Given the description of an element on the screen output the (x, y) to click on. 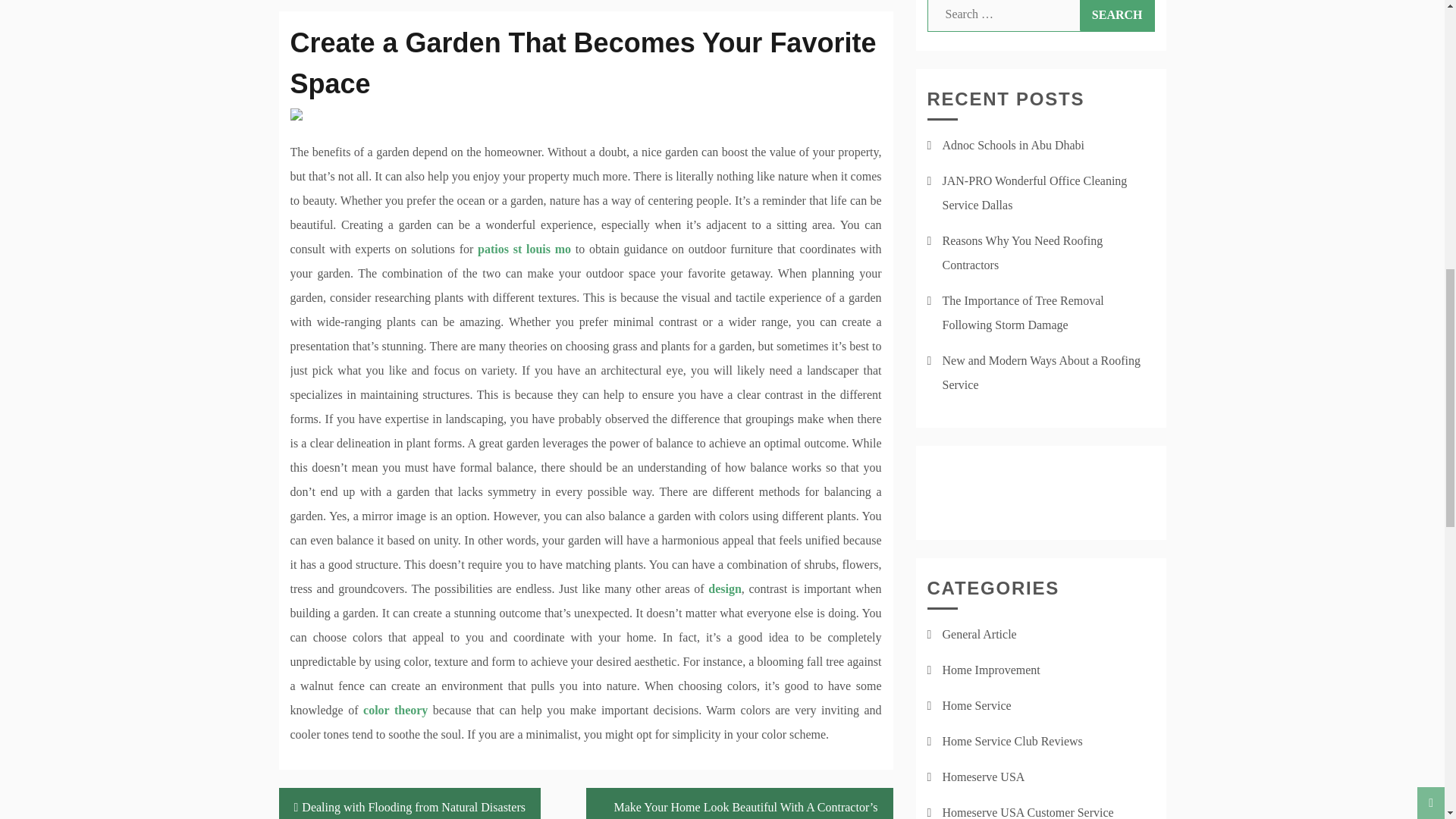
color theory (395, 709)
Dealing with Flooding from Natural Disasters (409, 803)
design (724, 588)
Search (1117, 15)
patios st louis mo (523, 248)
Search (1117, 15)
